Given the description of an element on the screen output the (x, y) to click on. 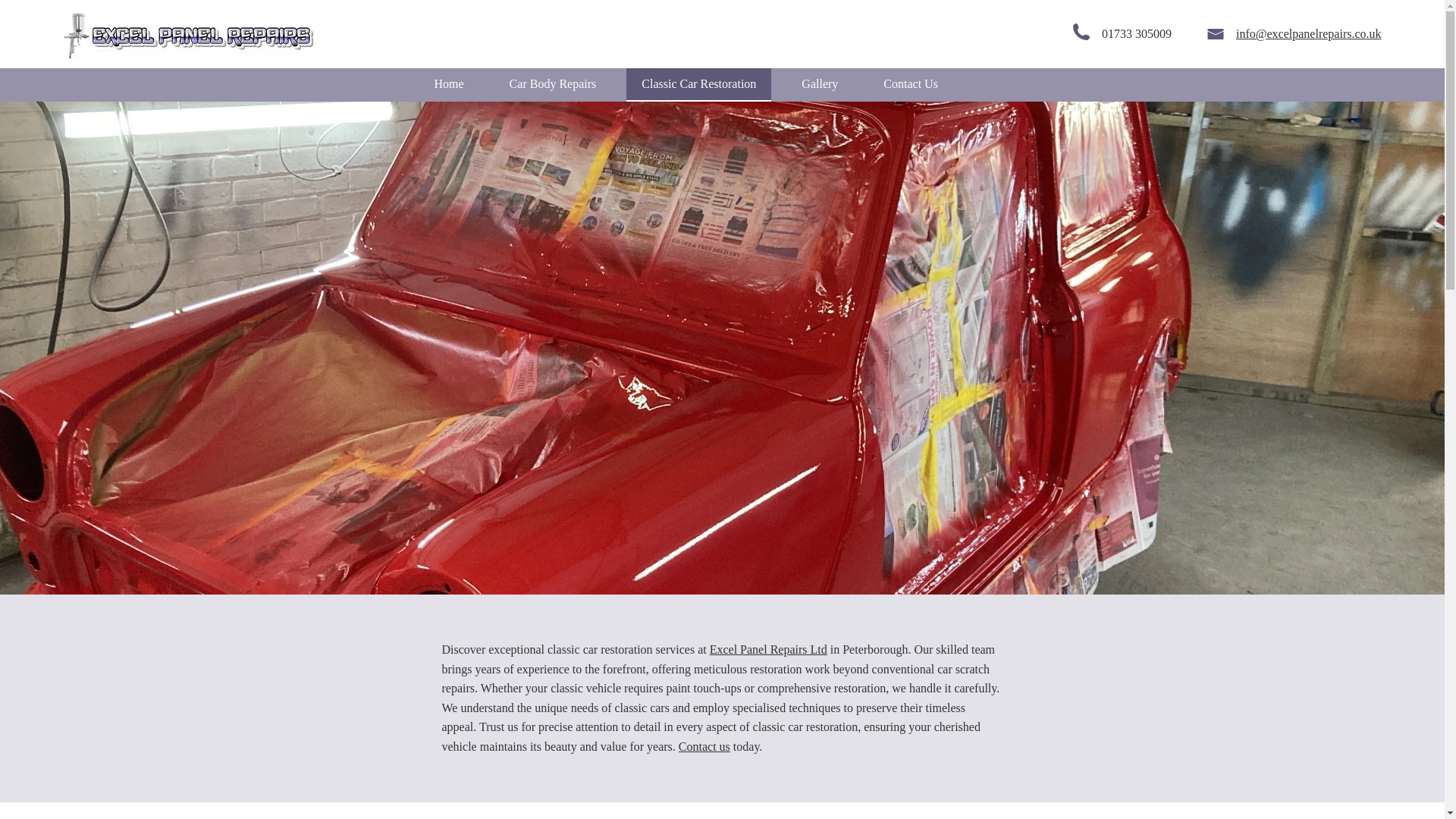
Classic Car Restoration (698, 84)
Excel Panel Repairs Ltd (768, 649)
Contact Us (910, 84)
Home (449, 84)
Gallery (819, 84)
Car Body Repairs (553, 84)
Contact us (704, 746)
